Given the description of an element on the screen output the (x, y) to click on. 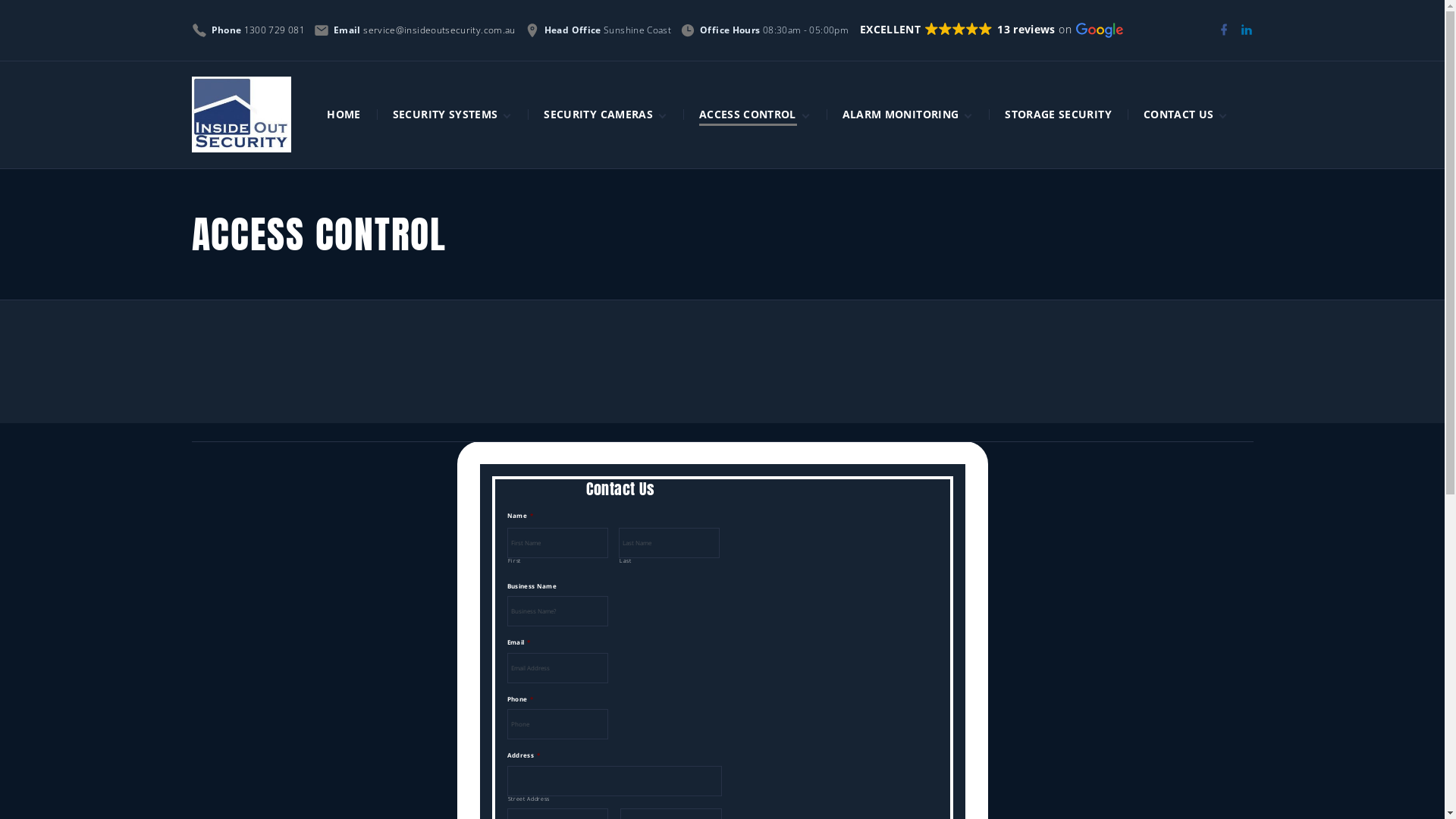
ALARM MONITORING Element type: text (901, 114)
service@insideoutsecurity.com.au Element type: text (439, 29)
ACCESS CONTROL Element type: text (748, 114)
EXCELLENT
13 reviews on Element type: text (997, 29)
STORAGE SECURITY Element type: text (1057, 114)
HOME Element type: text (343, 114)
facebook Element type: text (1223, 29)
SECURITY CAMERAS Element type: text (598, 114)
SECURITY SYSTEMS Element type: text (445, 114)
linkedin Element type: text (1245, 29)
1300 729 081 Element type: text (274, 29)
CONTACT US Element type: text (1178, 114)
